Given the description of an element on the screen output the (x, y) to click on. 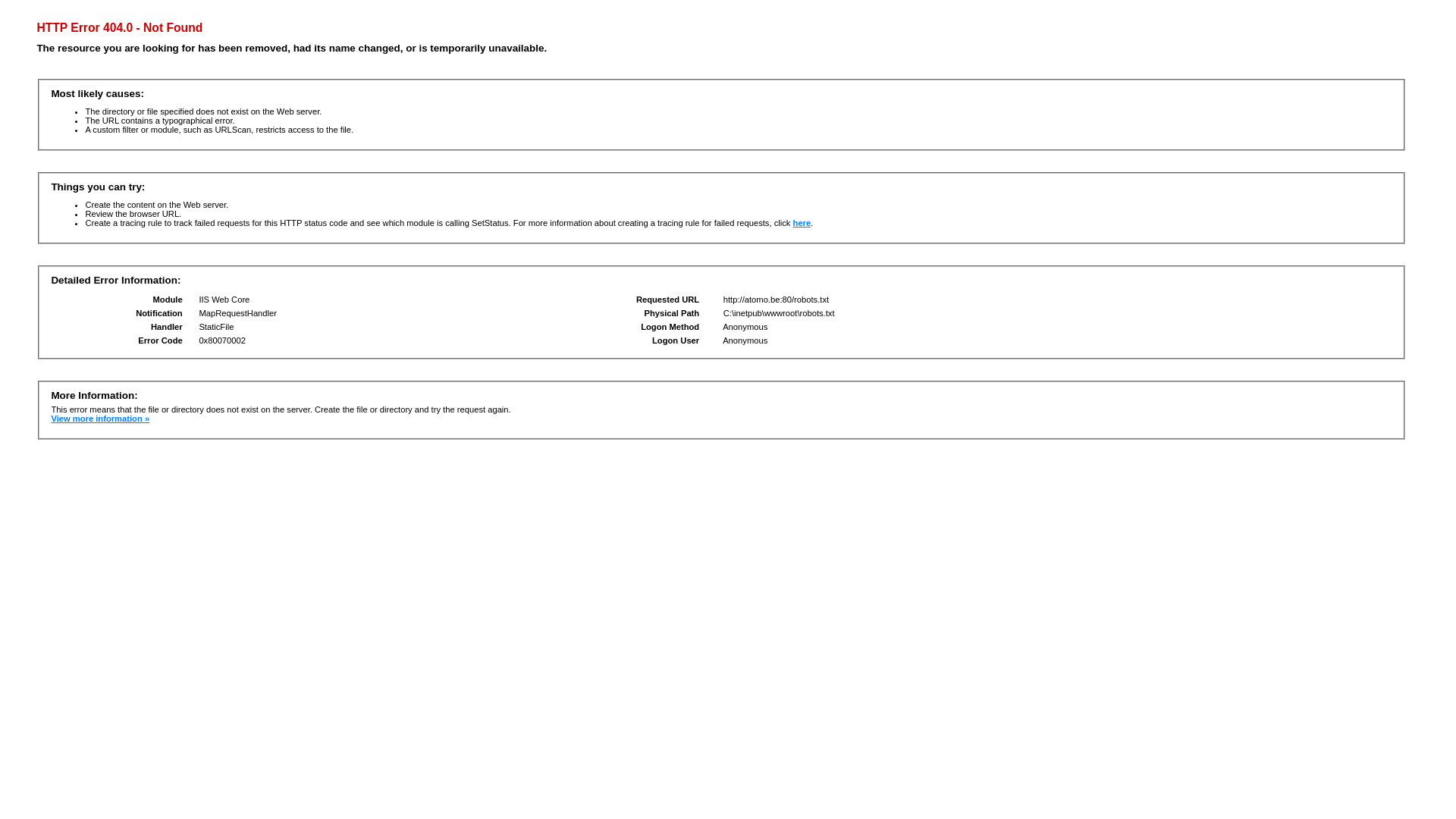
here Element type: text (802, 222)
